Given the description of an element on the screen output the (x, y) to click on. 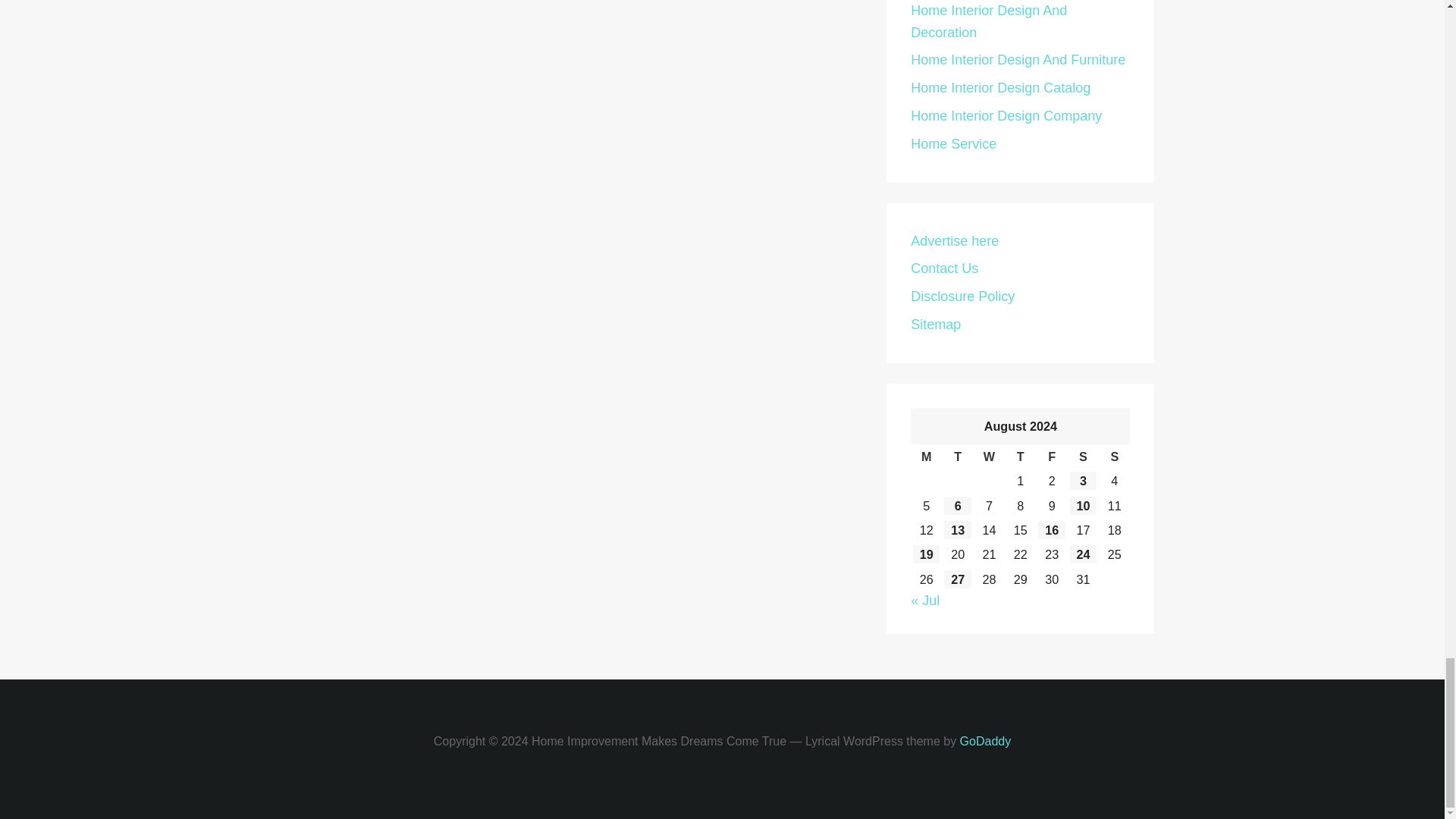
Monday (926, 456)
Tuesday (957, 456)
Friday (1051, 456)
Thursday (1019, 456)
Sunday (1114, 456)
Wednesday (989, 456)
Saturday (1083, 456)
